Given the description of an element on the screen output the (x, y) to click on. 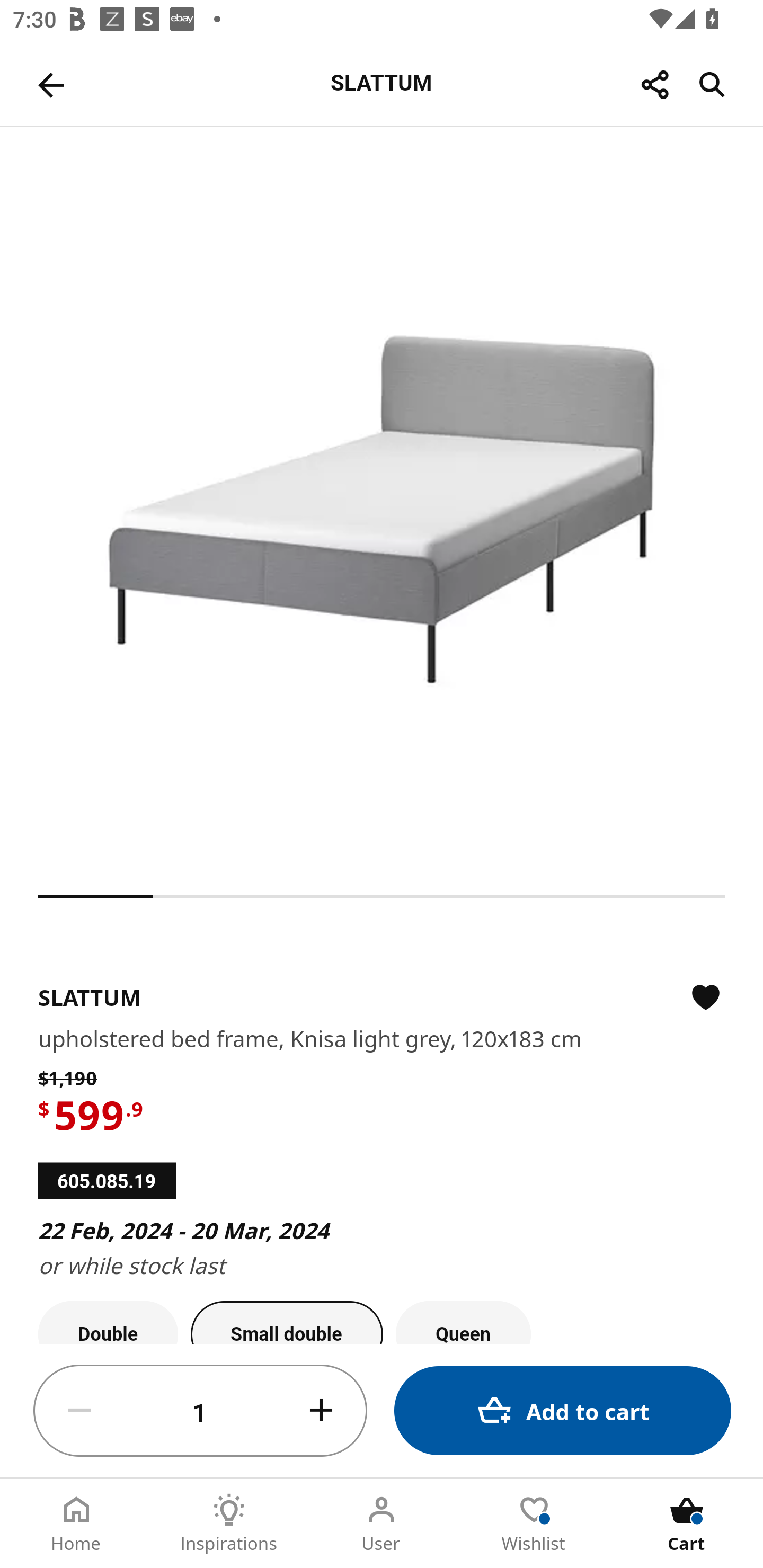
Double (107, 1322)
Small double (286, 1322)
Queen (463, 1322)
Add to cart (562, 1410)
1 (200, 1411)
Home
Tab 1 of 5 (76, 1522)
Inspirations
Tab 2 of 5 (228, 1522)
User
Tab 3 of 5 (381, 1522)
Wishlist
Tab 4 of 5 (533, 1522)
Cart
Tab 5 of 5 (686, 1522)
